Given the description of an element on the screen output the (x, y) to click on. 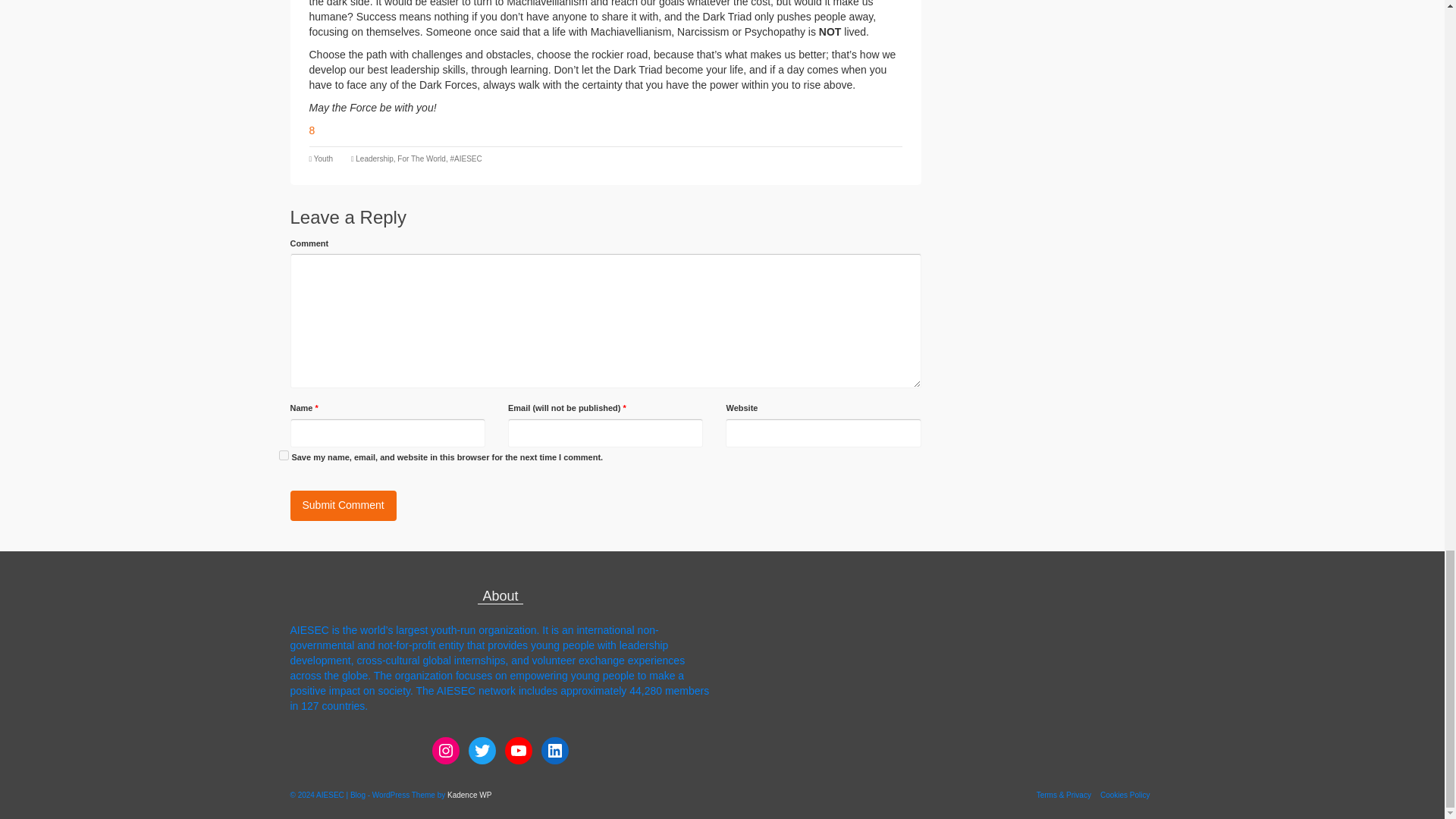
For The World (421, 158)
Submit Comment (342, 505)
yes (283, 455)
Leadership (374, 158)
Youth (323, 158)
